Given the description of an element on the screen output the (x, y) to click on. 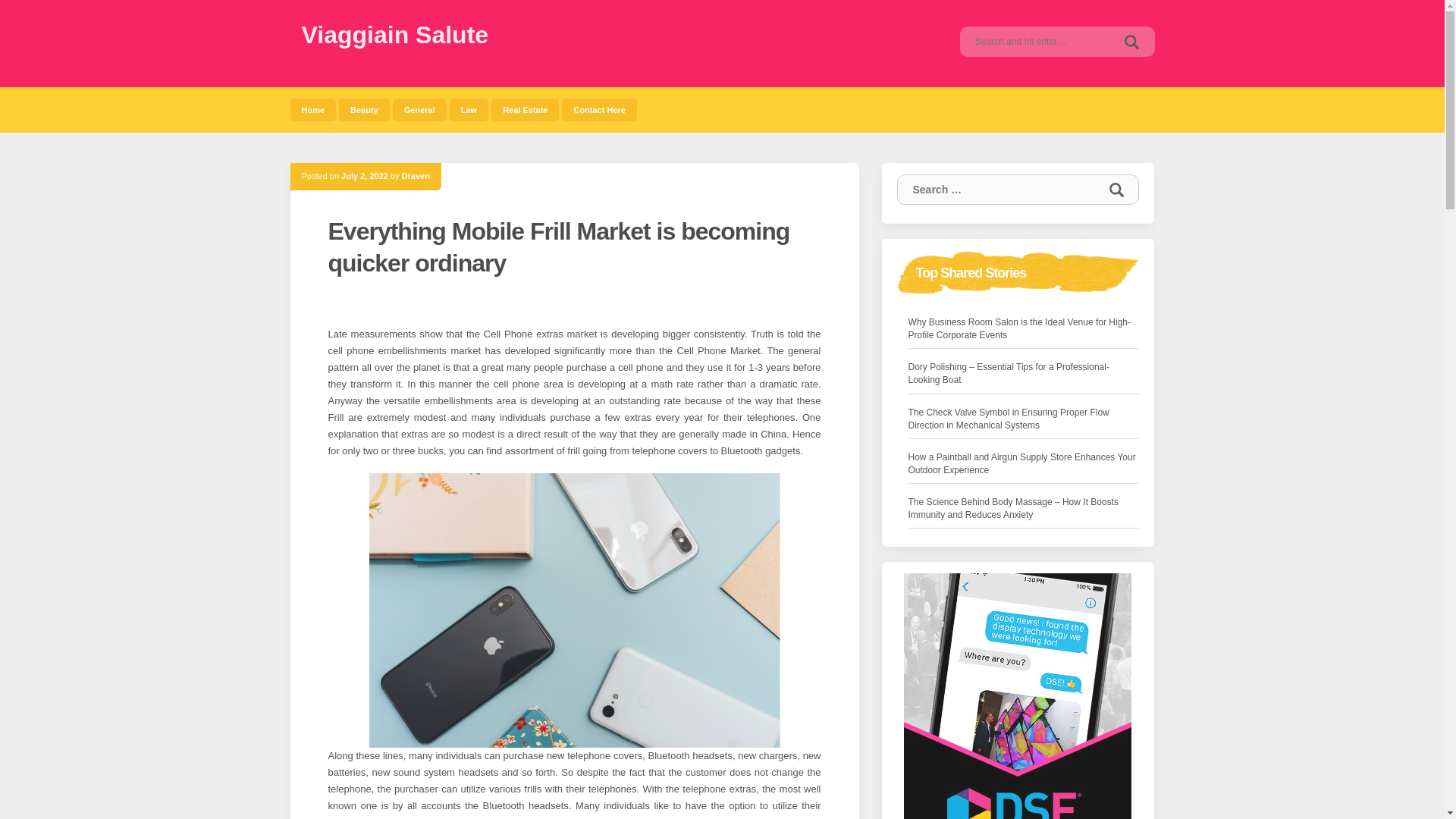
Search (1115, 189)
Real Estate (525, 109)
Real Estate (525, 109)
Home (312, 109)
Law (468, 109)
Beauty (364, 109)
General (419, 109)
Law (468, 109)
Search (1131, 41)
